Given the description of an element on the screen output the (x, y) to click on. 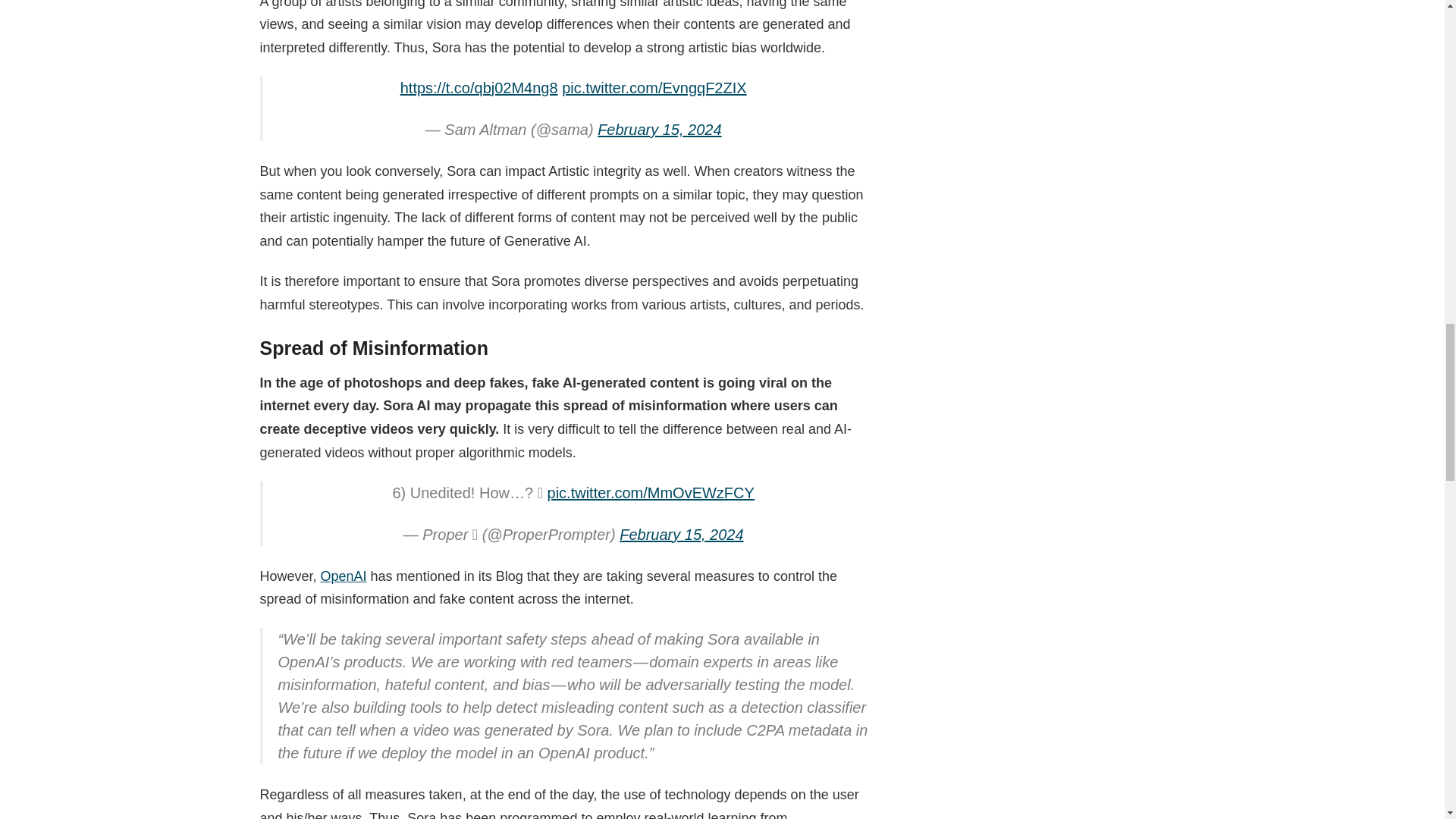
February 15, 2024 (658, 129)
February 15, 2024 (681, 534)
OpenAI (343, 575)
